Given the description of an element on the screen output the (x, y) to click on. 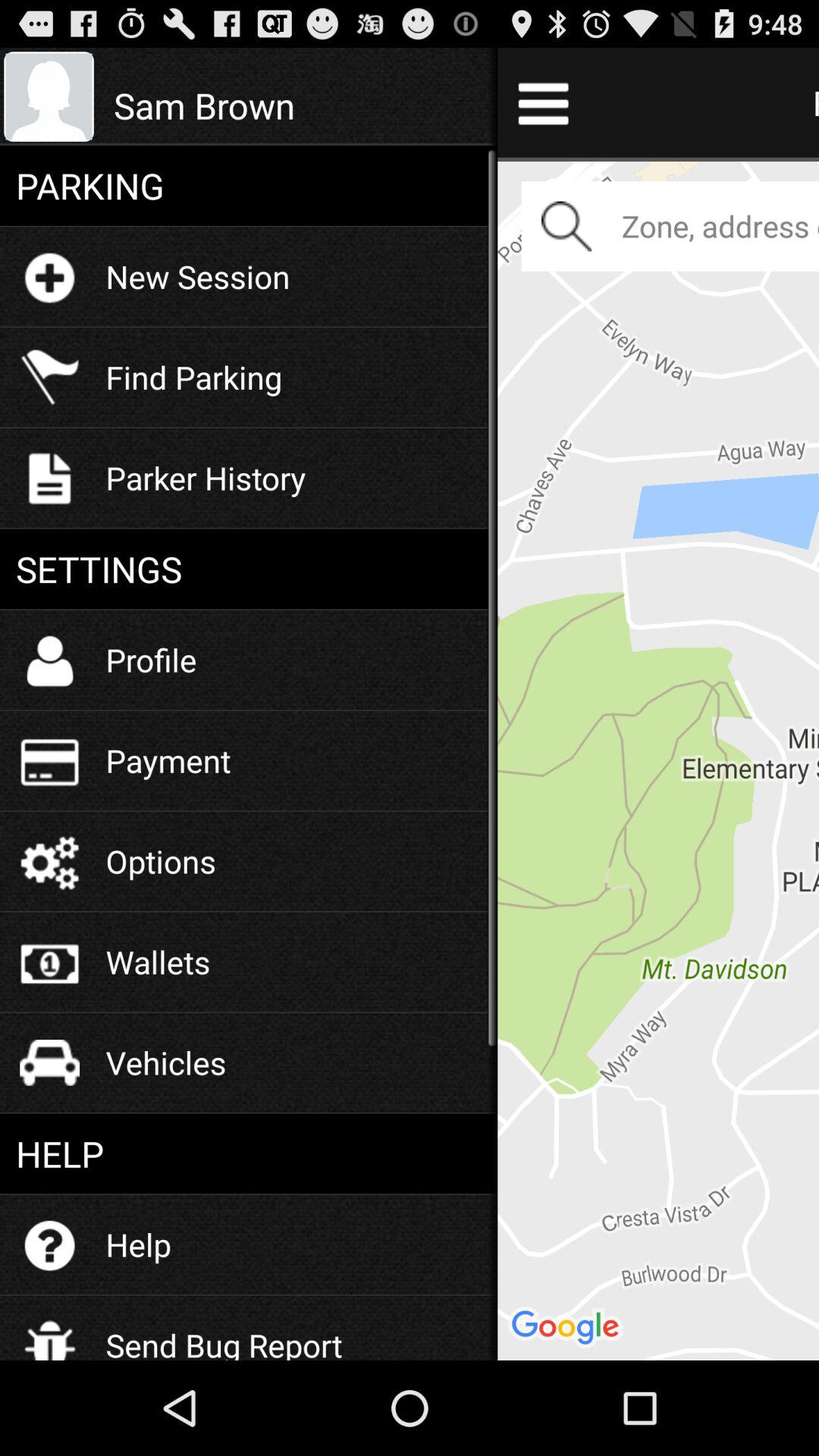
turn off profile icon (150, 659)
